Given the description of an element on the screen output the (x, y) to click on. 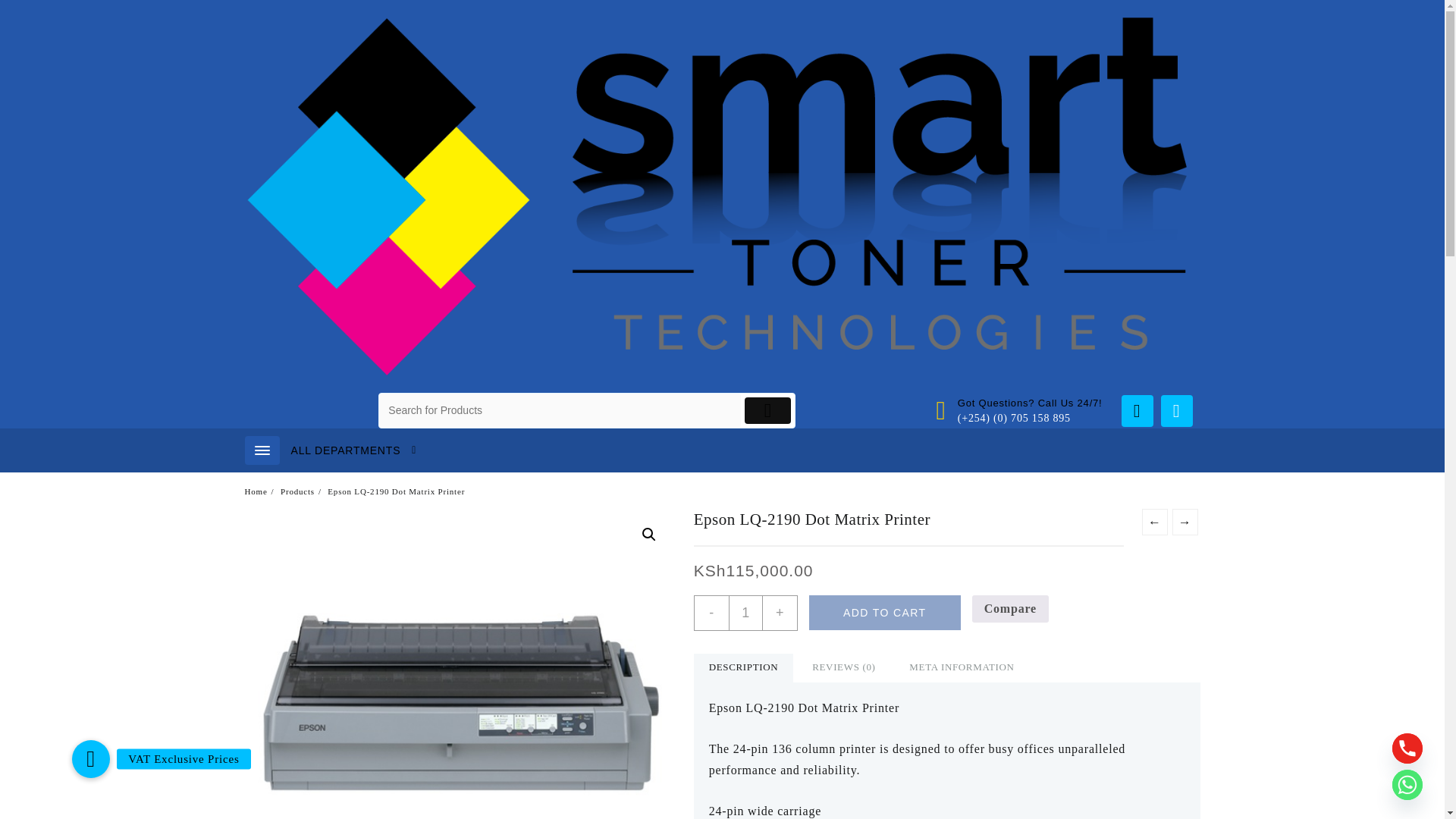
Submit (767, 410)
1 (745, 612)
Epson LQ-2190 Dot Matrix (459, 663)
Search (559, 410)
